Given the description of an element on the screen output the (x, y) to click on. 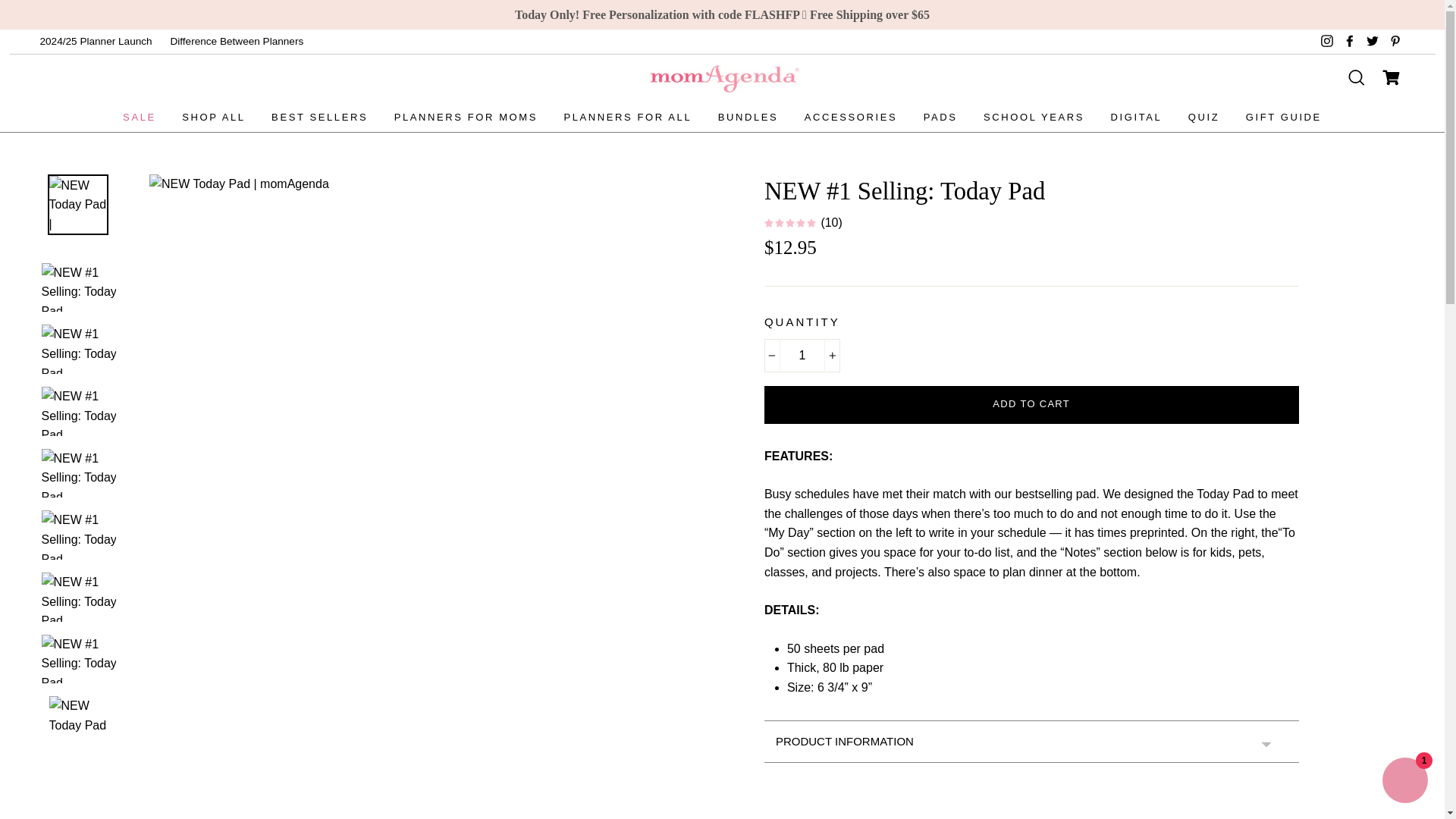
Difference Between Planners (236, 41)
momAgenda on Twitter (1371, 41)
1 (802, 355)
Shopify online store chat (1404, 781)
PLANNERS FOR ALL (627, 117)
BEST SELLERS (319, 117)
SCHOOL YEARS (1034, 117)
ACCESSORIES (850, 117)
Pinterest (1394, 41)
PADS (940, 117)
momAgenda on Instagram (1326, 41)
PLANNERS FOR MOMS (465, 117)
Instagram (1326, 41)
